Given the description of an element on the screen output the (x, y) to click on. 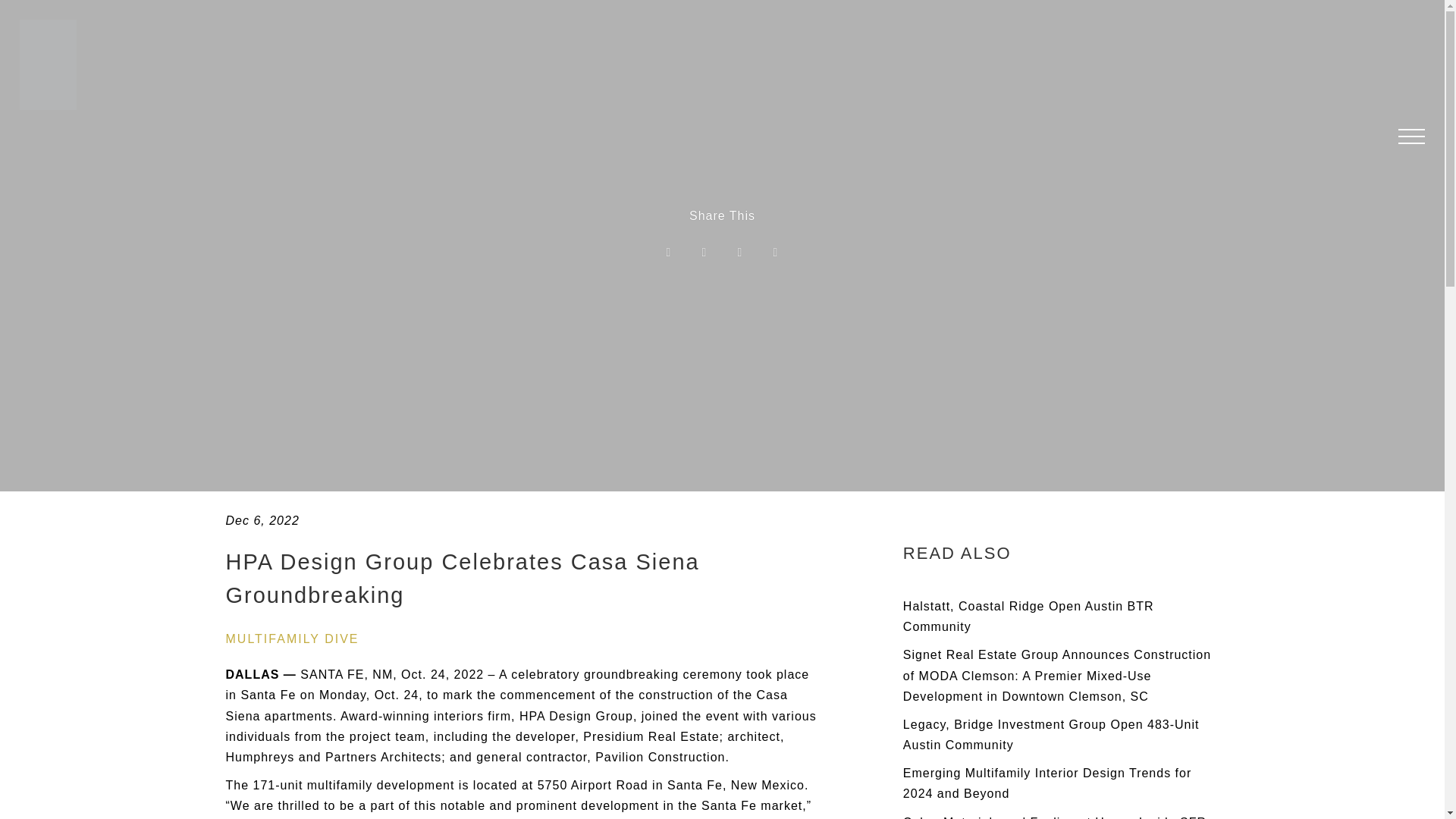
Twitter (668, 253)
search (1355, 578)
Pinterest (740, 253)
Halstatt, Coastal Ridge Open Austin BTR Community (1028, 616)
LinkedIn (775, 253)
Facebook (703, 253)
